Given the description of an element on the screen output the (x, y) to click on. 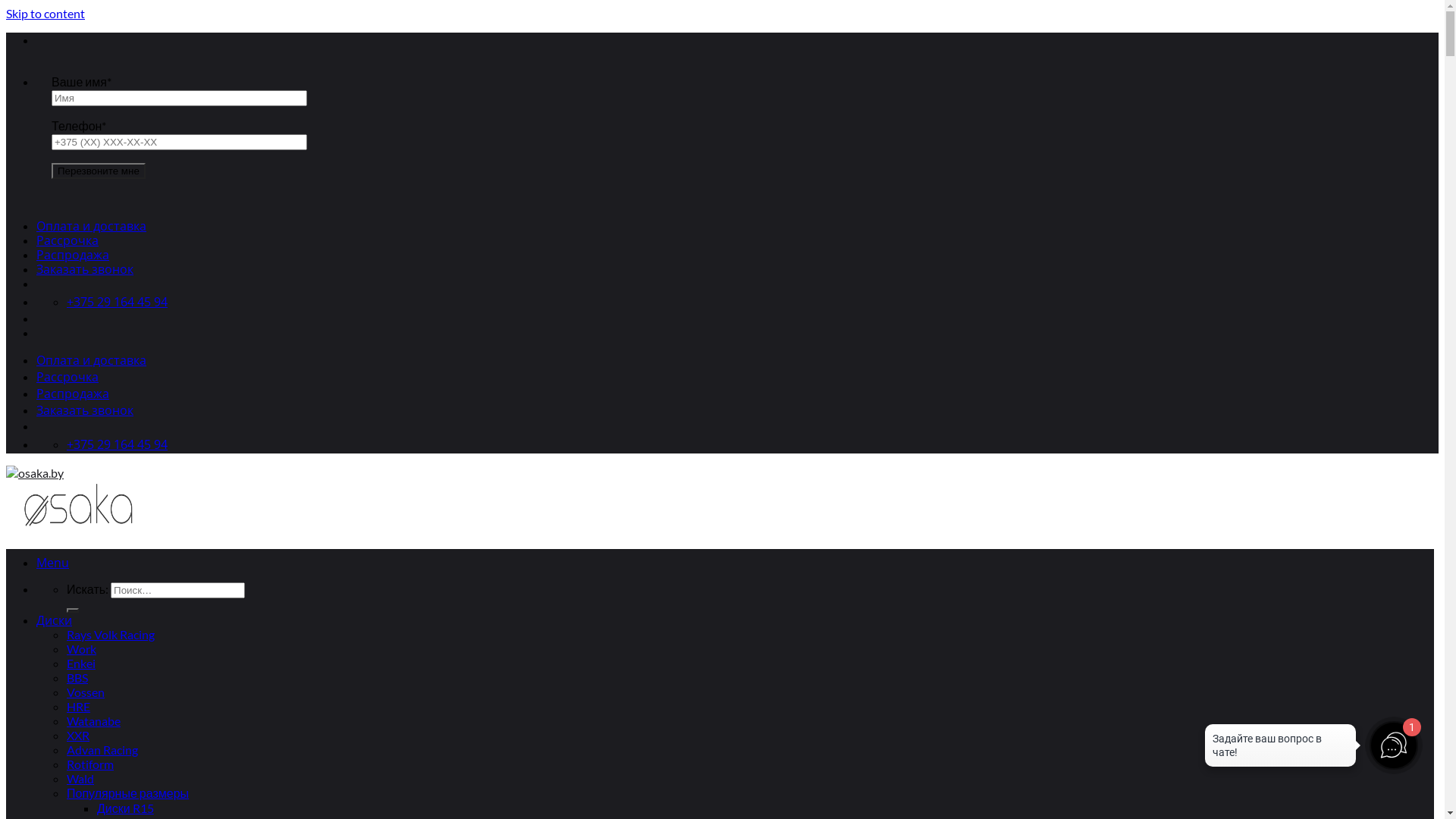
BBS Element type: text (76, 677)
+375 29 164 45 94 Element type: text (116, 444)
Rotiform Element type: text (89, 763)
Rays Volk Racing Element type: text (110, 634)
Menu Element type: text (52, 562)
Vossen Element type: text (85, 691)
Wald Element type: text (80, 778)
XXR Element type: text (77, 735)
Skip to content Element type: text (45, 13)
+375 29 164 45 94 Element type: text (116, 301)
Work Element type: text (81, 648)
Enkei Element type: text (80, 662)
amoCRM Live Chat Element type: hover (1280, 749)
HRE Element type: text (78, 706)
Advan Racing Element type: text (102, 749)
Watanabe Element type: text (93, 720)
